Given the description of an element on the screen output the (x, y) to click on. 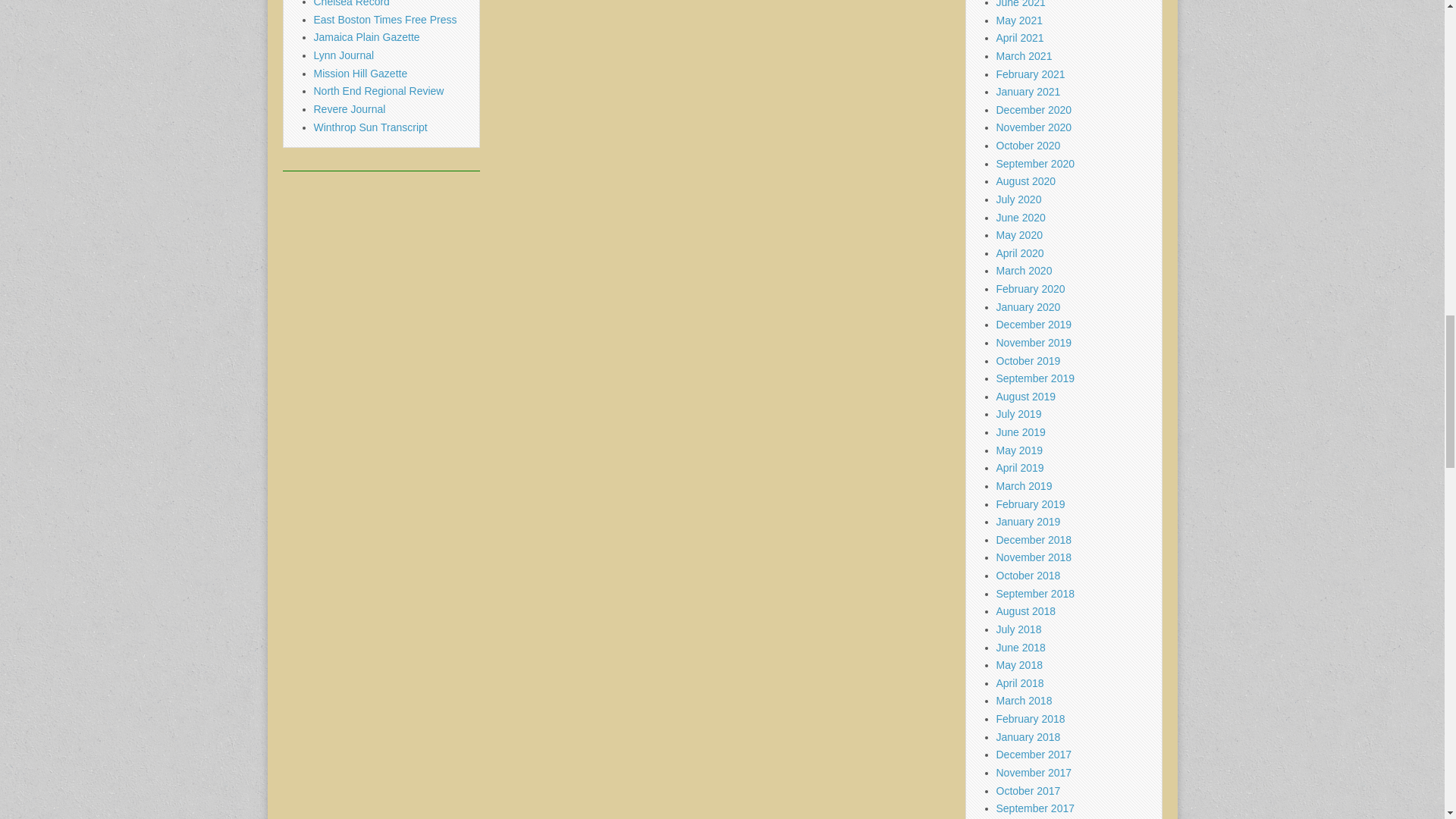
East Boston Times Free Press (385, 19)
Jamaica Plain Gazette (367, 37)
Lynn Journal (344, 55)
Chelsea Record (352, 3)
